Given the description of an element on the screen output the (x, y) to click on. 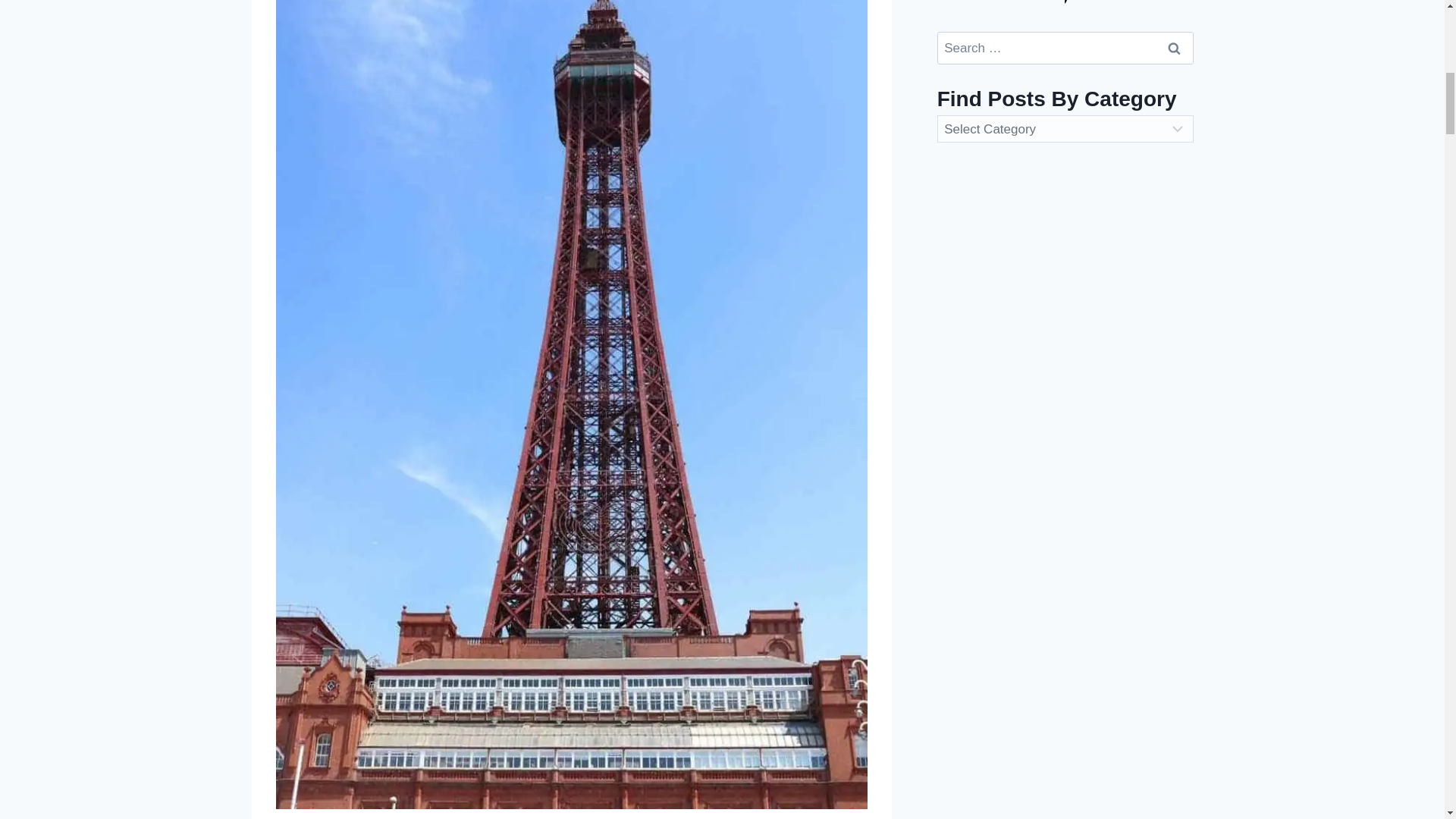
Search (1174, 47)
Search (1174, 47)
